Given the description of an element on the screen output the (x, y) to click on. 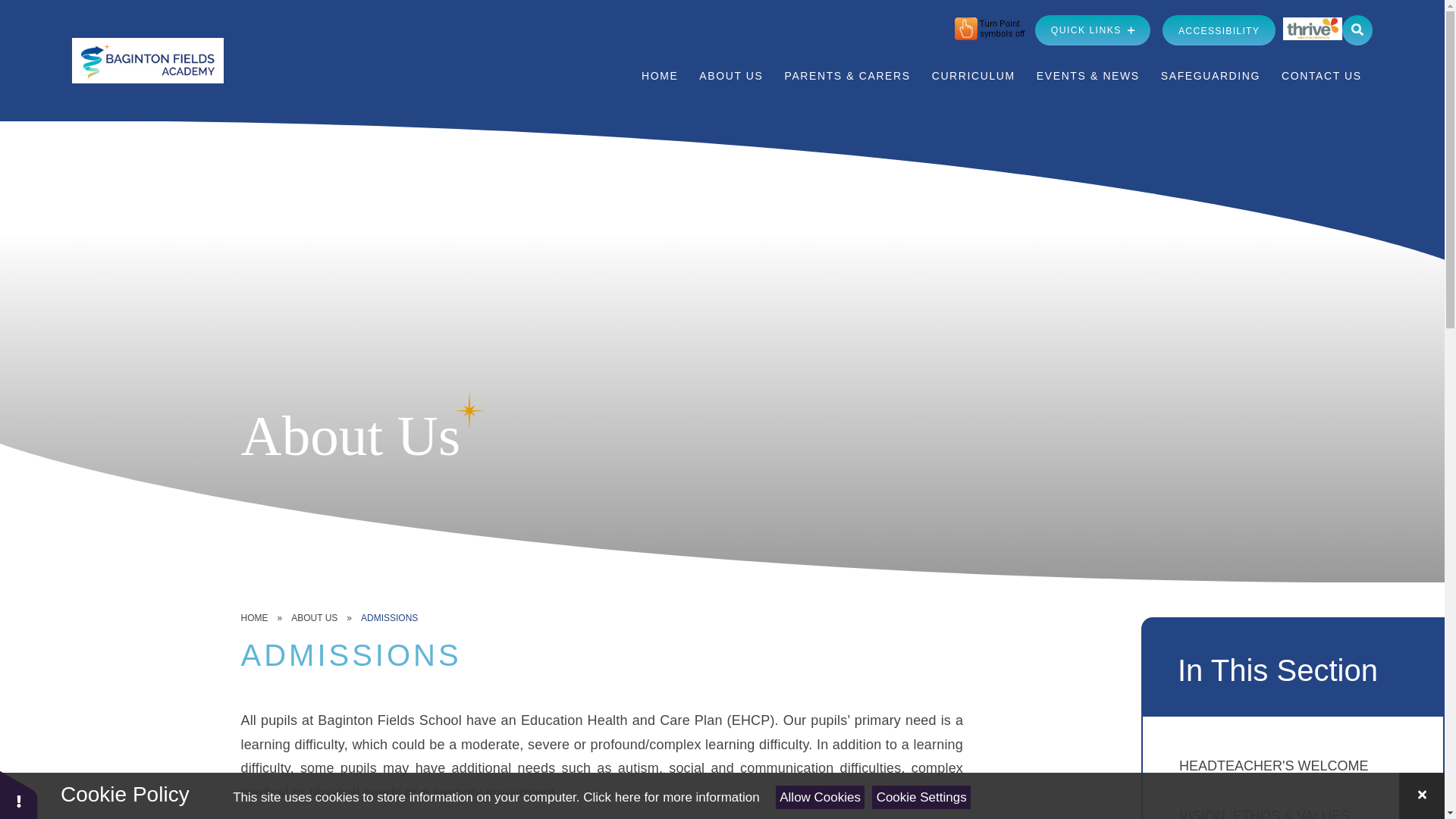
ACCESSIBILITY (1218, 30)
QUICK LINKS (1092, 30)
HOME (659, 75)
ABOUT US (730, 75)
